Given the description of an element on the screen output the (x, y) to click on. 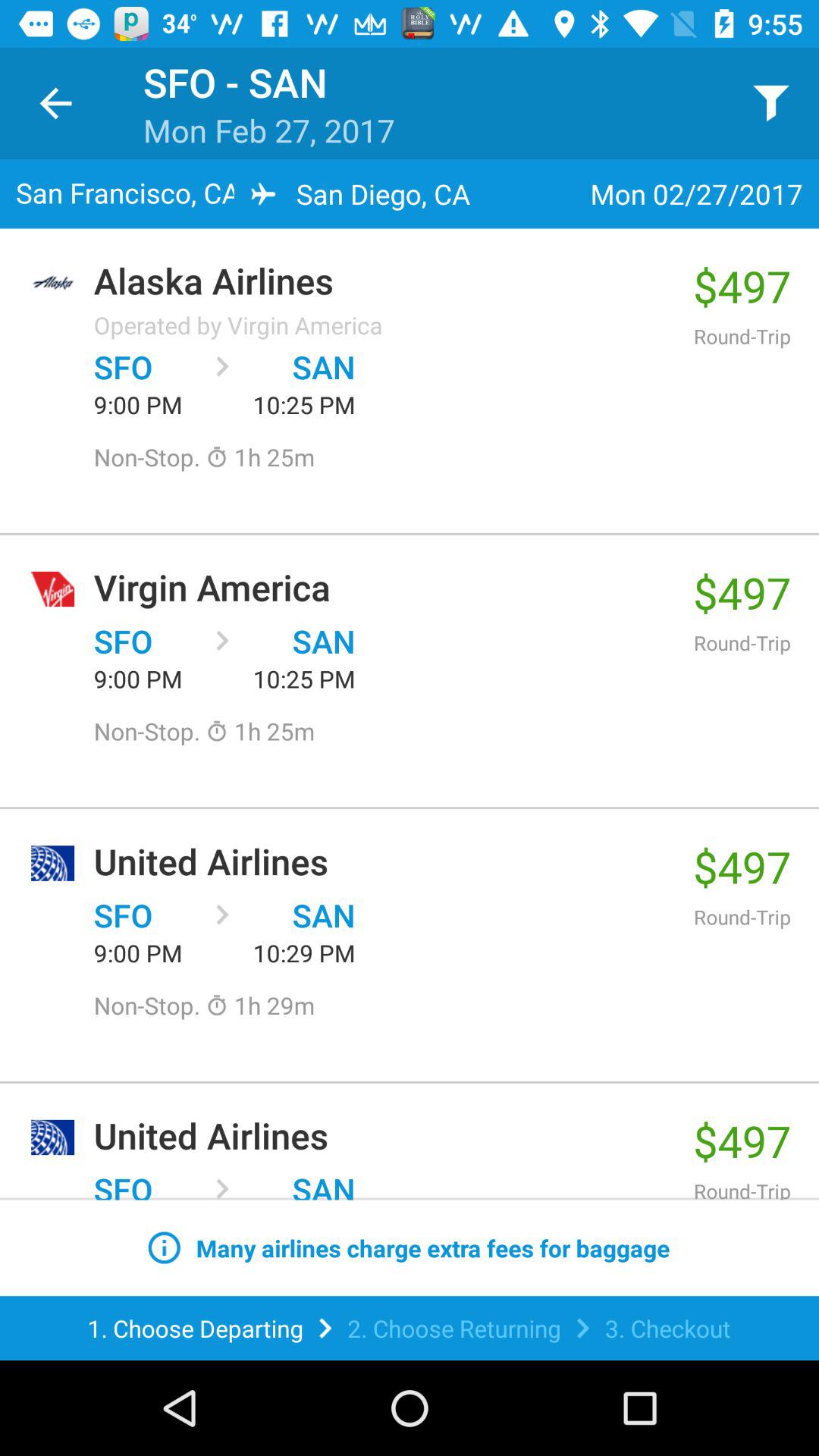
open the item next to the non-stop.  icon (260, 1005)
